Given the description of an element on the screen output the (x, y) to click on. 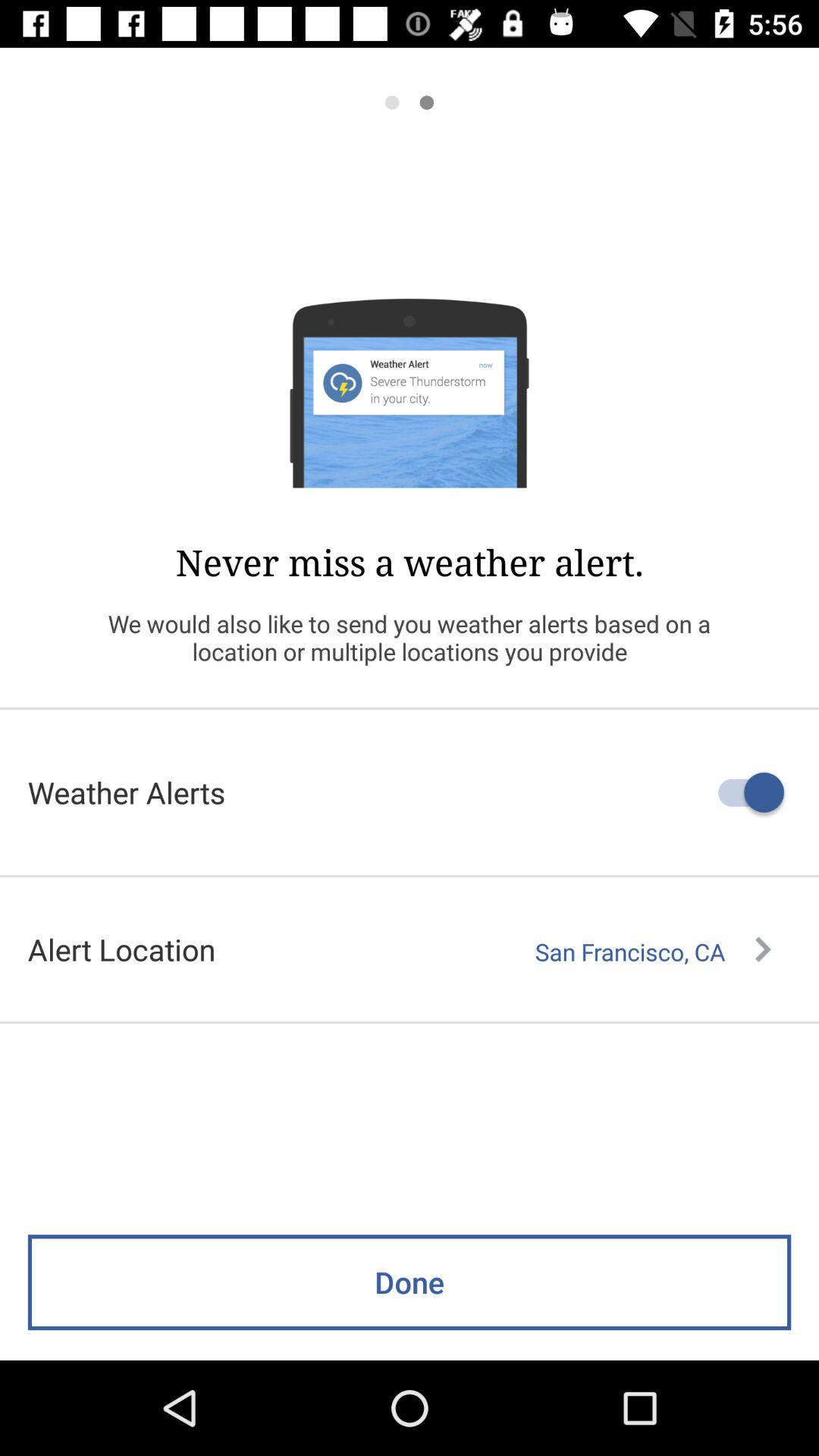
turn off the san francisco, ca icon (653, 951)
